Given the description of an element on the screen output the (x, y) to click on. 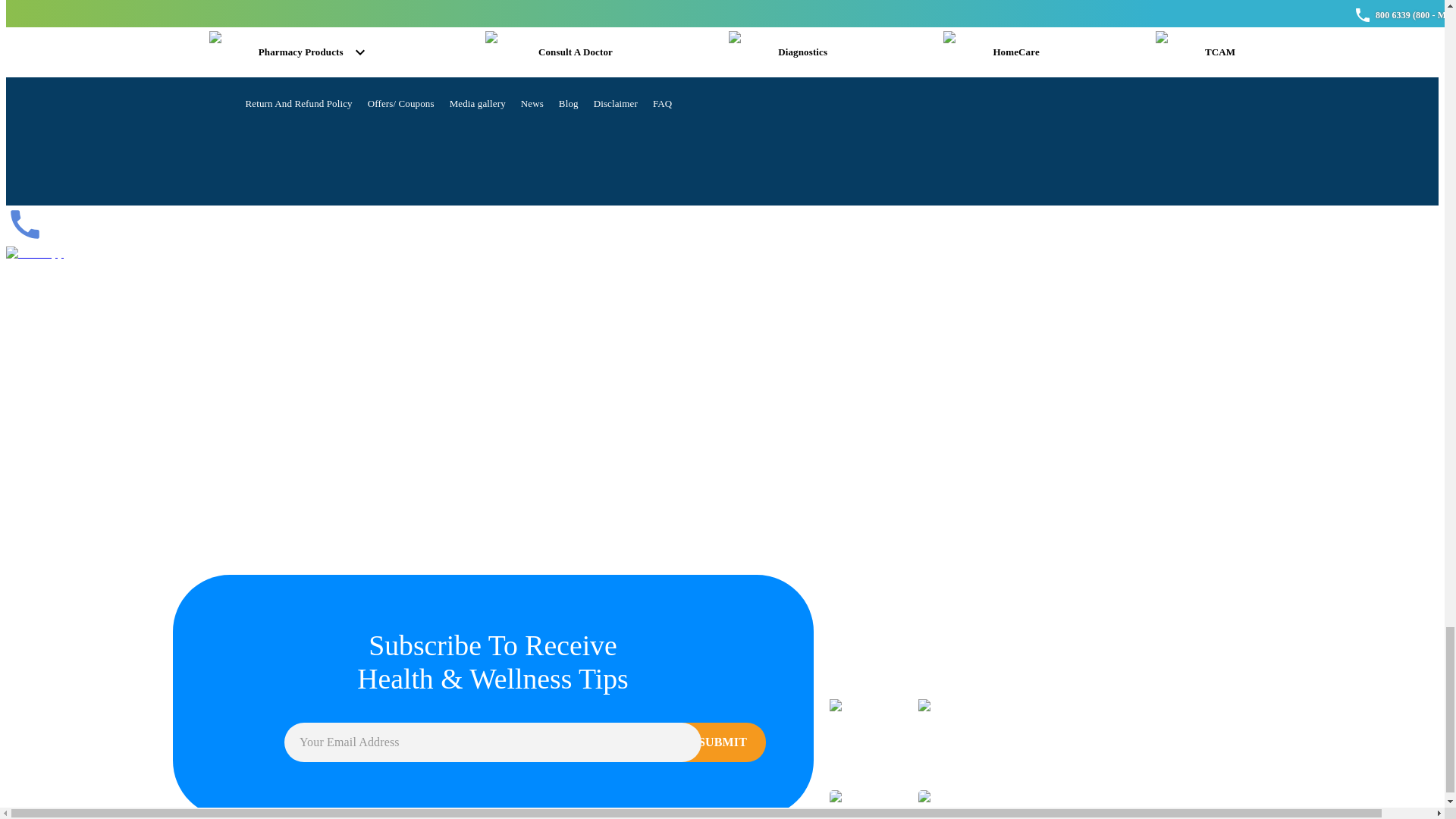
Career (458, 71)
About Medy (271, 71)
Privacy Policy (620, 71)
Shipping and Delivery Policy (1034, 71)
Code of Conduct policy (790, 71)
Terms and Conditions (531, 71)
SUBMIT (708, 741)
Contact (326, 71)
Cookies Policy (695, 71)
Customer Review (393, 71)
